Given the description of an element on the screen output the (x, y) to click on. 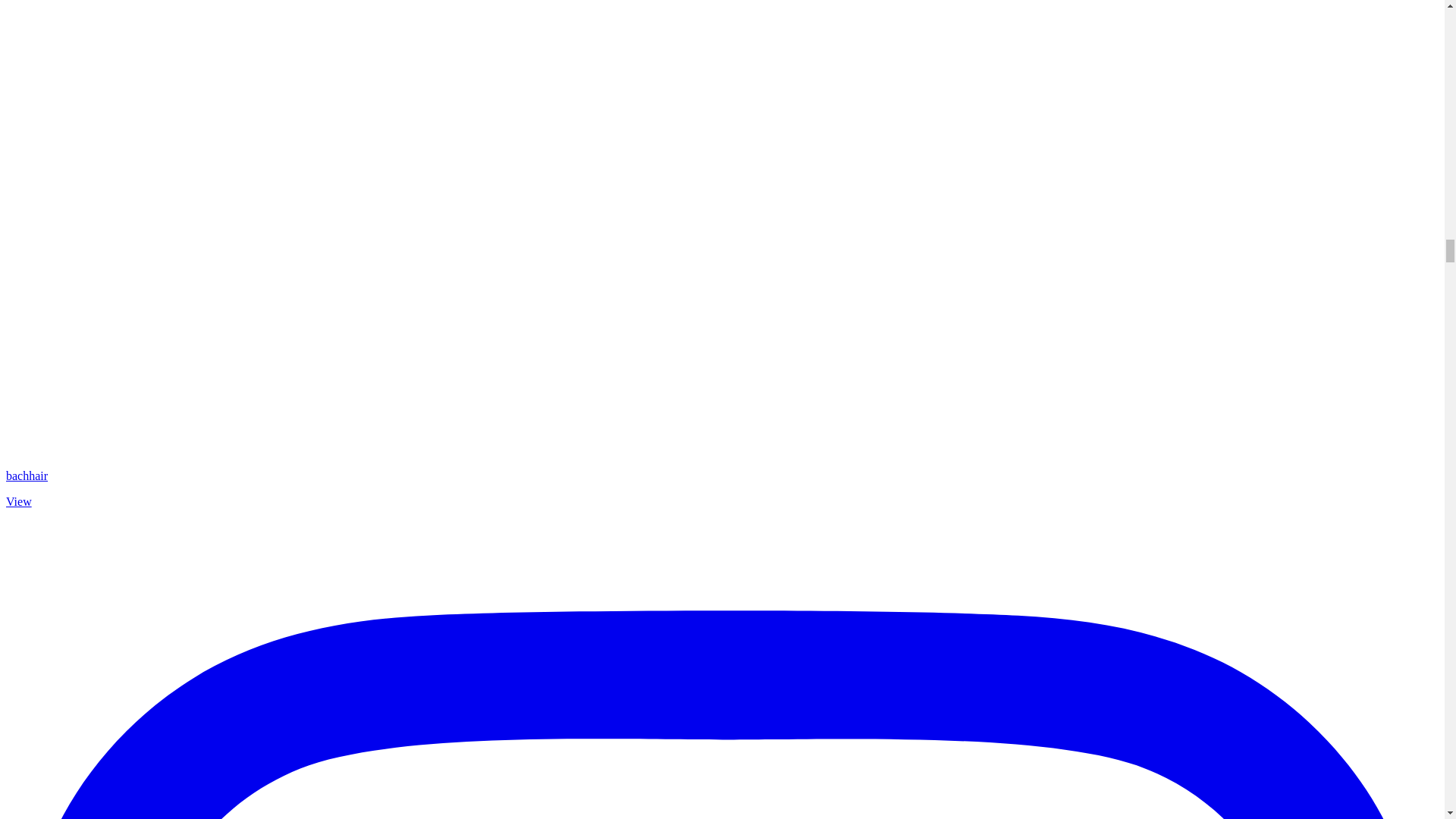
bachhair (26, 475)
